Given the description of an element on the screen output the (x, y) to click on. 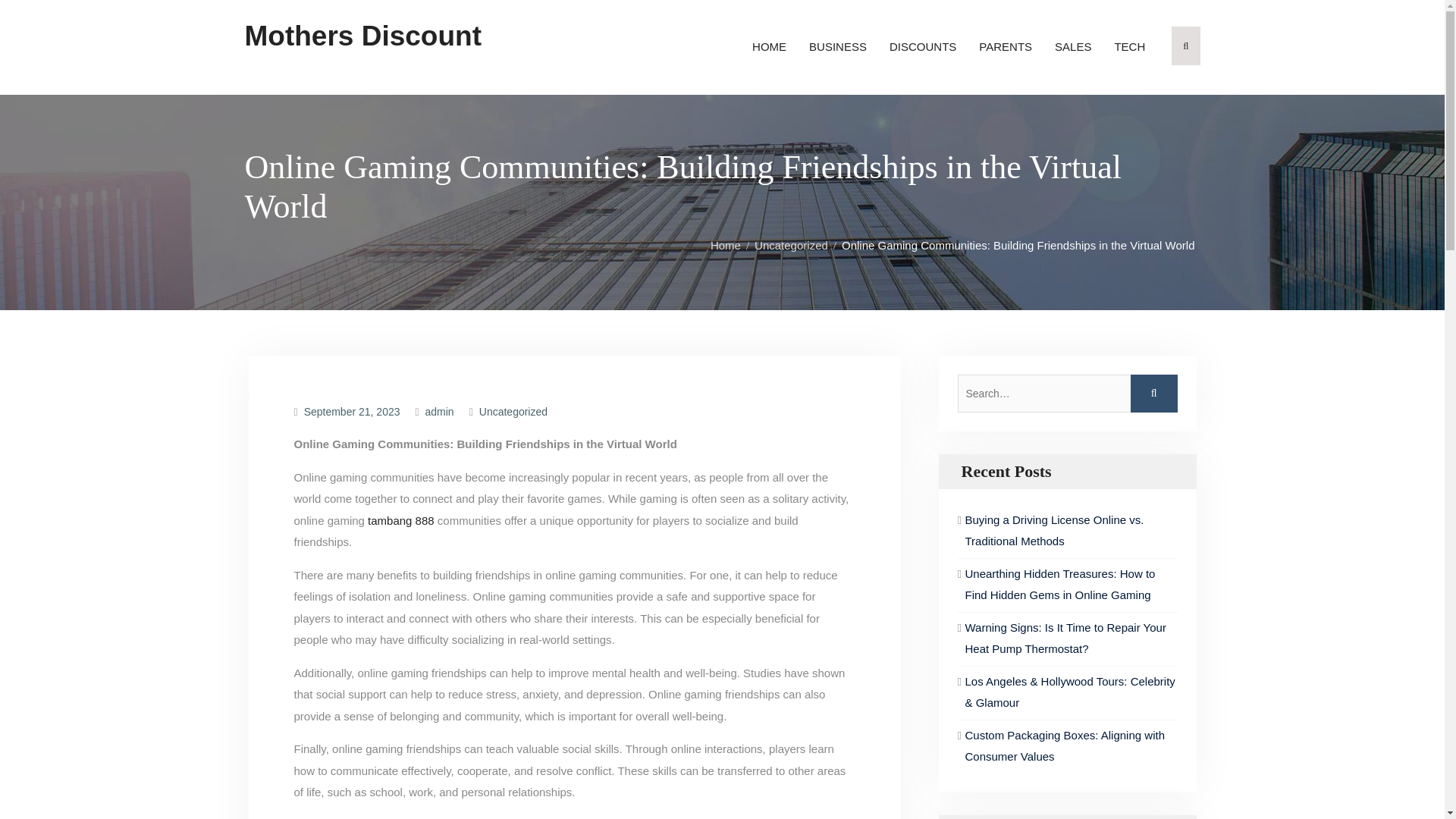
Search for: (1066, 393)
Home (729, 245)
BUSINESS (837, 47)
admin (439, 411)
tambang 888 (400, 520)
Mothers Discount (362, 35)
Uncategorized (513, 411)
SALES (1072, 47)
PARENTS (1005, 47)
